Given the description of an element on the screen output the (x, y) to click on. 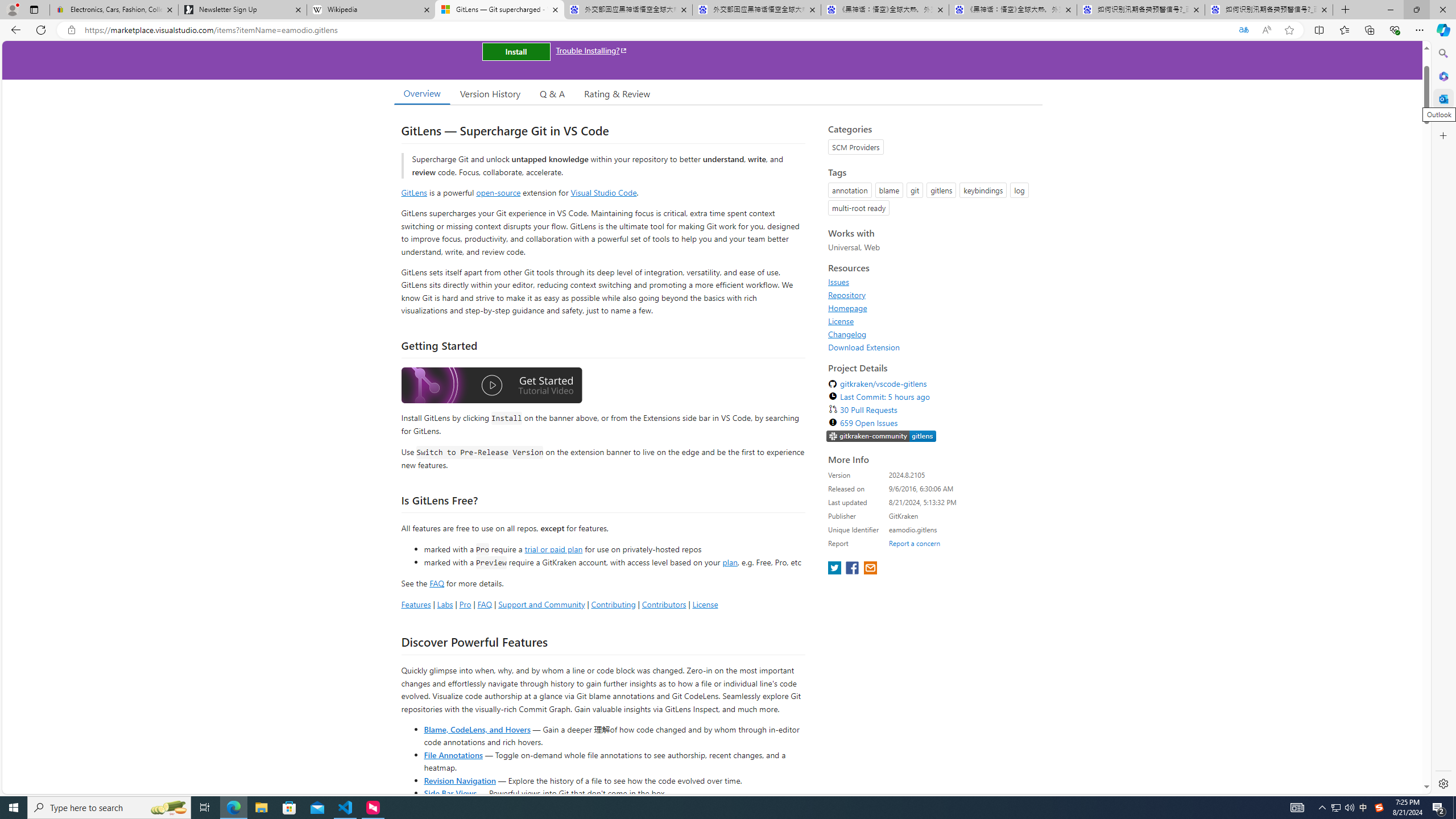
Side Bar Views (449, 792)
Watch the GitLens Getting Started video (491, 387)
Features (415, 603)
License (840, 320)
trial or paid plan (553, 548)
Rating & Review (618, 92)
